Given the description of an element on the screen output the (x, y) to click on. 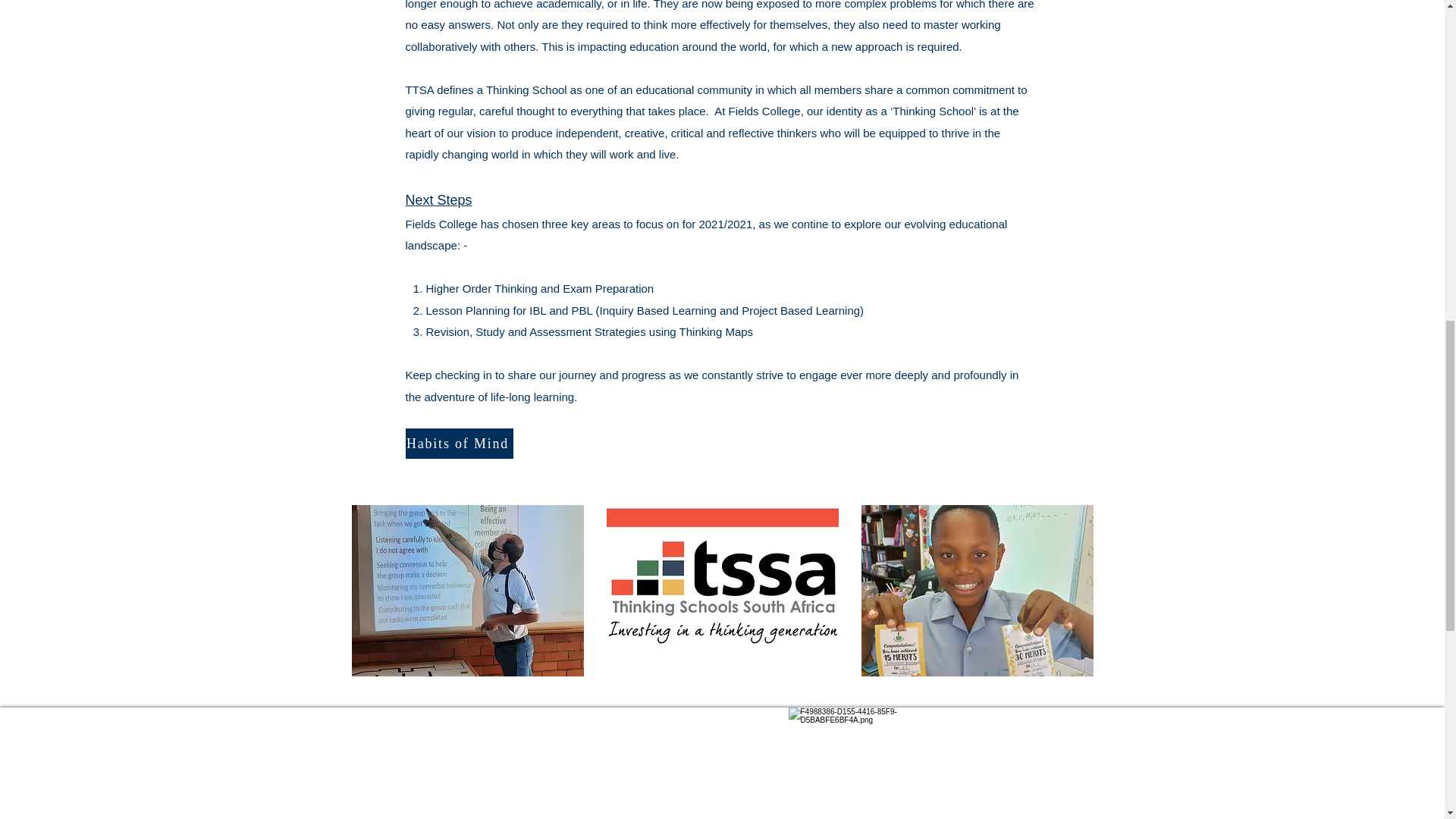
Habits of Mind (458, 443)
